Given the description of an element on the screen output the (x, y) to click on. 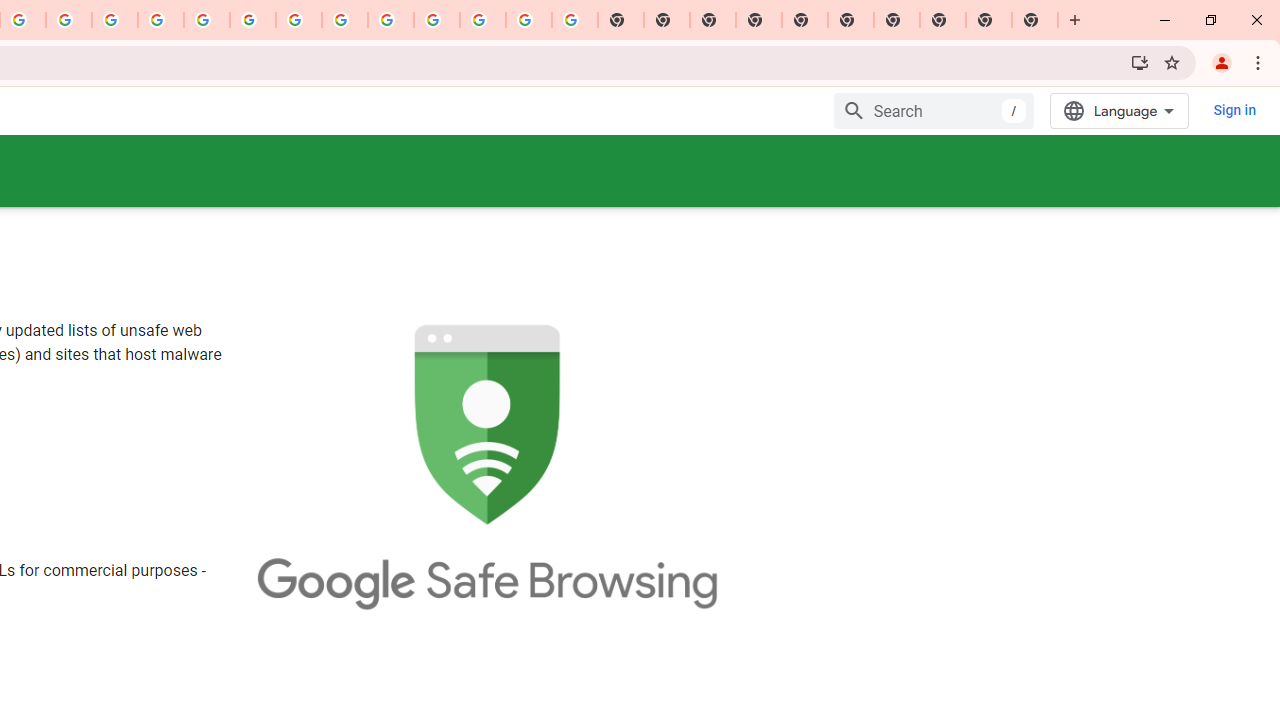
Browse Chrome as a guest - Computer - Google Chrome Help (345, 20)
Install Google Developers (1139, 62)
YouTube (299, 20)
